Given the description of an element on the screen output the (x, y) to click on. 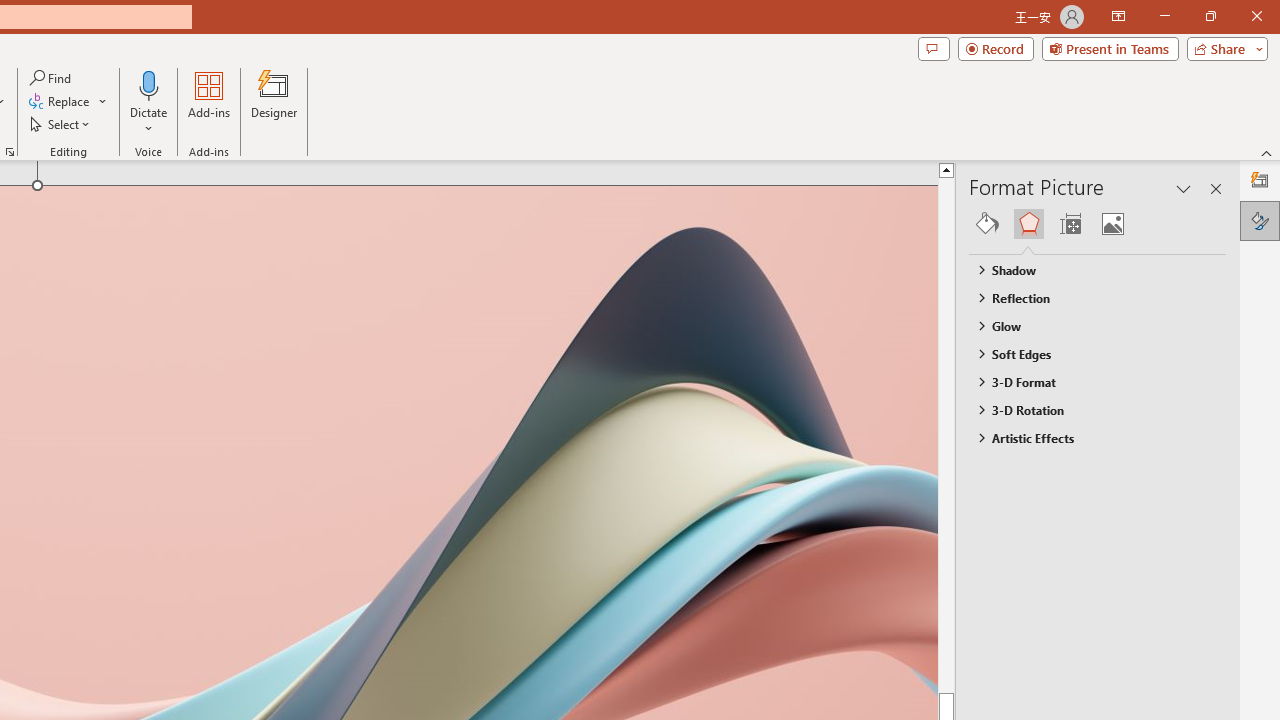
Ribbon Display Options (1118, 16)
Record (995, 48)
Minimize (1164, 16)
Select (61, 124)
Designer (1260, 180)
Artistic Effects (1088, 438)
3-D Format (1088, 381)
Effects (1028, 223)
